Given the description of an element on the screen output the (x, y) to click on. 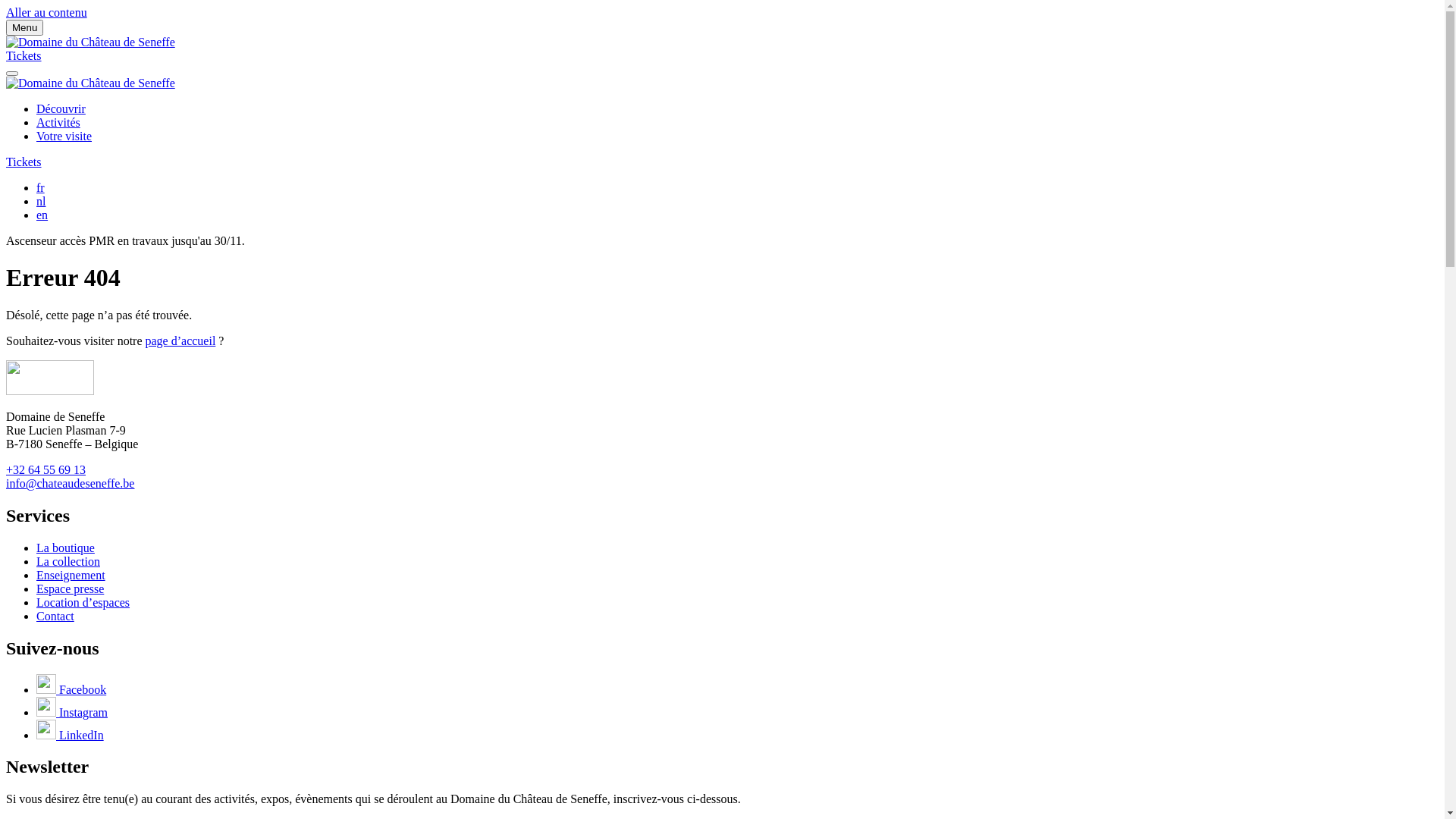
LinkedIn Element type: text (69, 734)
Facebook Element type: text (71, 688)
Tickets Element type: text (23, 161)
Espace presse Element type: text (69, 588)
info@chateaudeseneffe.be Element type: text (70, 482)
Contact Element type: text (55, 615)
nl Element type: text (40, 200)
La boutique Element type: text (65, 547)
+32 64 55 69 13 Element type: text (45, 469)
Enseignement Element type: text (70, 574)
Tickets Element type: text (23, 55)
La collection Element type: text (68, 561)
Aller au contenu Element type: text (46, 12)
Menu Element type: text (24, 27)
en Element type: text (41, 214)
Instagram Element type: text (71, 711)
Votre visite Element type: text (63, 135)
fr Element type: text (40, 187)
